Given the description of an element on the screen output the (x, y) to click on. 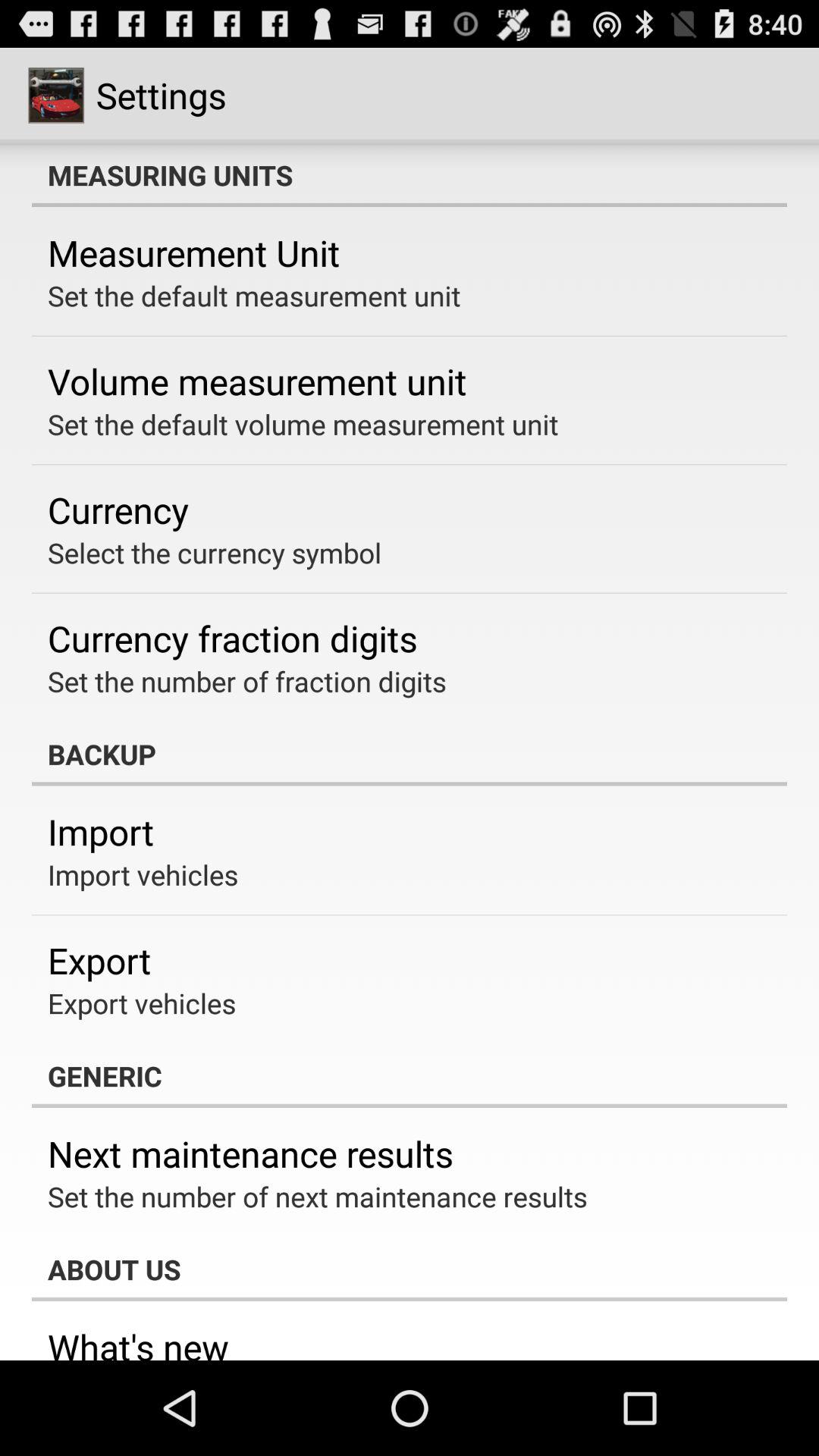
select item below the set the number (409, 754)
